Given the description of an element on the screen output the (x, y) to click on. 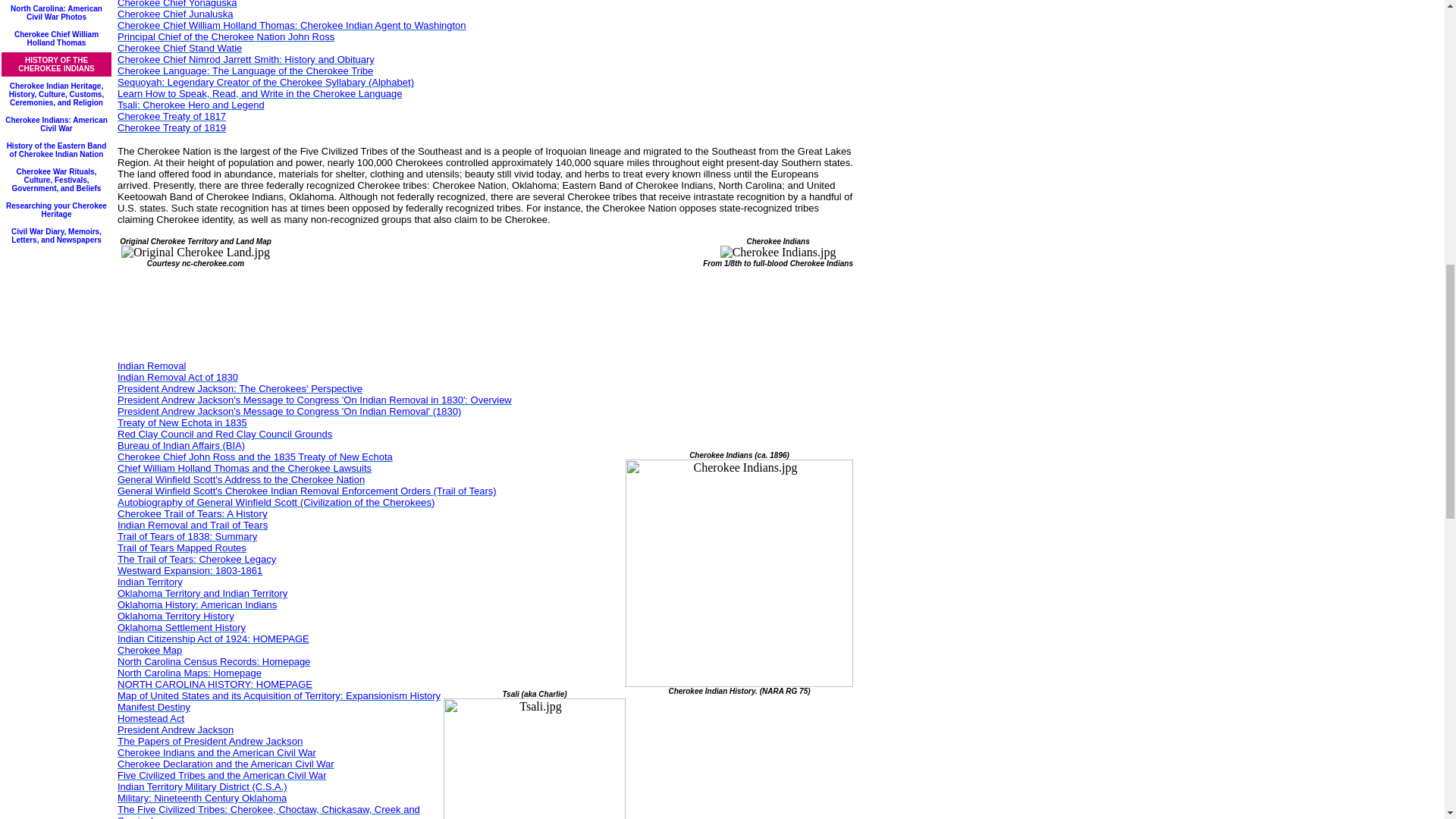
Cherokee Chief William Holland Thomas (56, 36)
Civil War Diary, Memoirs, Letters, and Newspapers (56, 233)
North Carolina: American Civil War Photos (55, 11)
Cherokee Indians: American Civil War (56, 122)
HISTORY OF THE CHEROKEE INDIANS (55, 62)
Researching your Cherokee Heritage (55, 208)
History of the Eastern Band of Cherokee Indian Nation (56, 148)
